Given the description of an element on the screen output the (x, y) to click on. 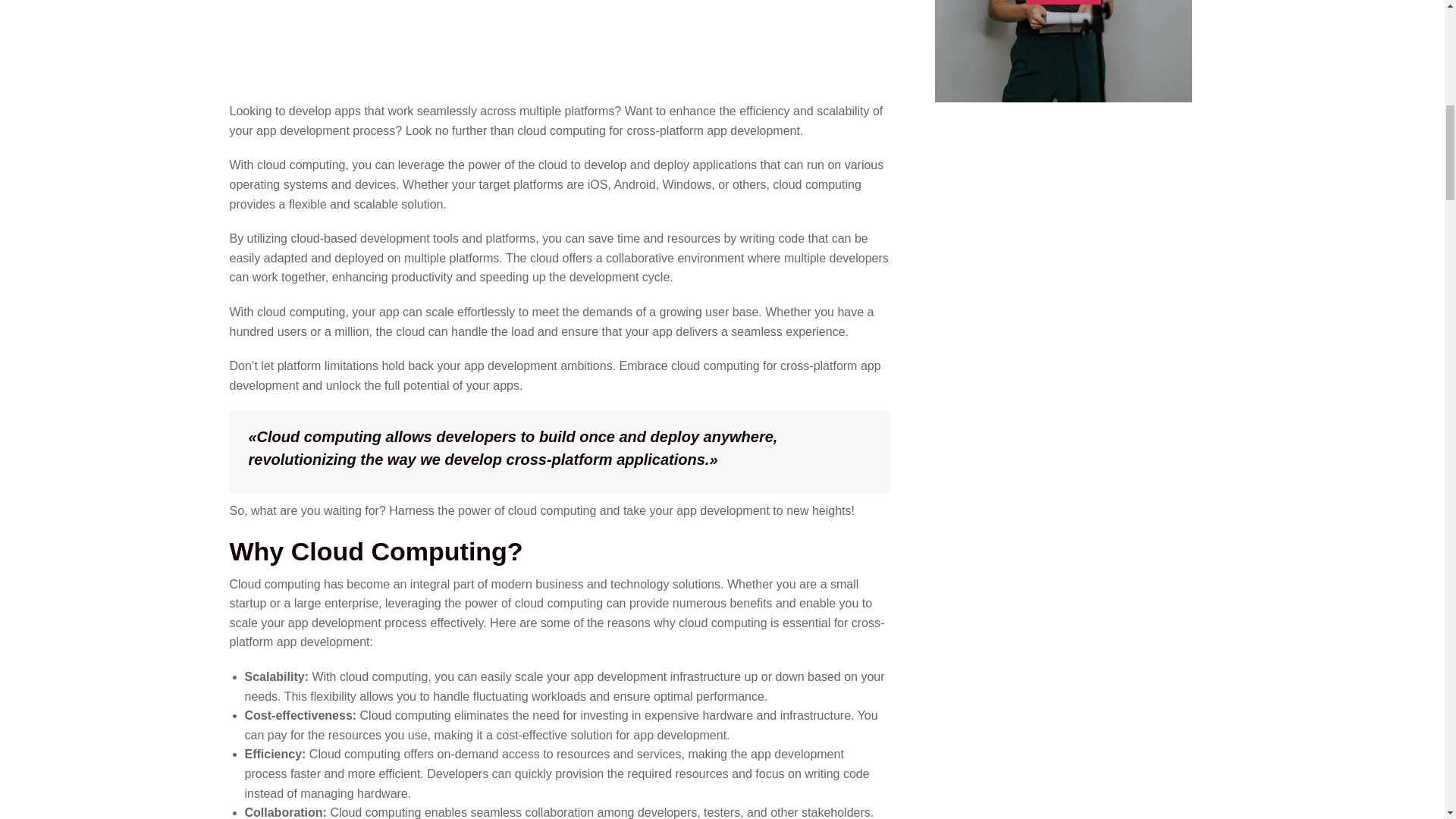
Shop now (1063, 2)
Cloud Computing for Cross-Platform App Development (558, 40)
